Given the description of an element on the screen output the (x, y) to click on. 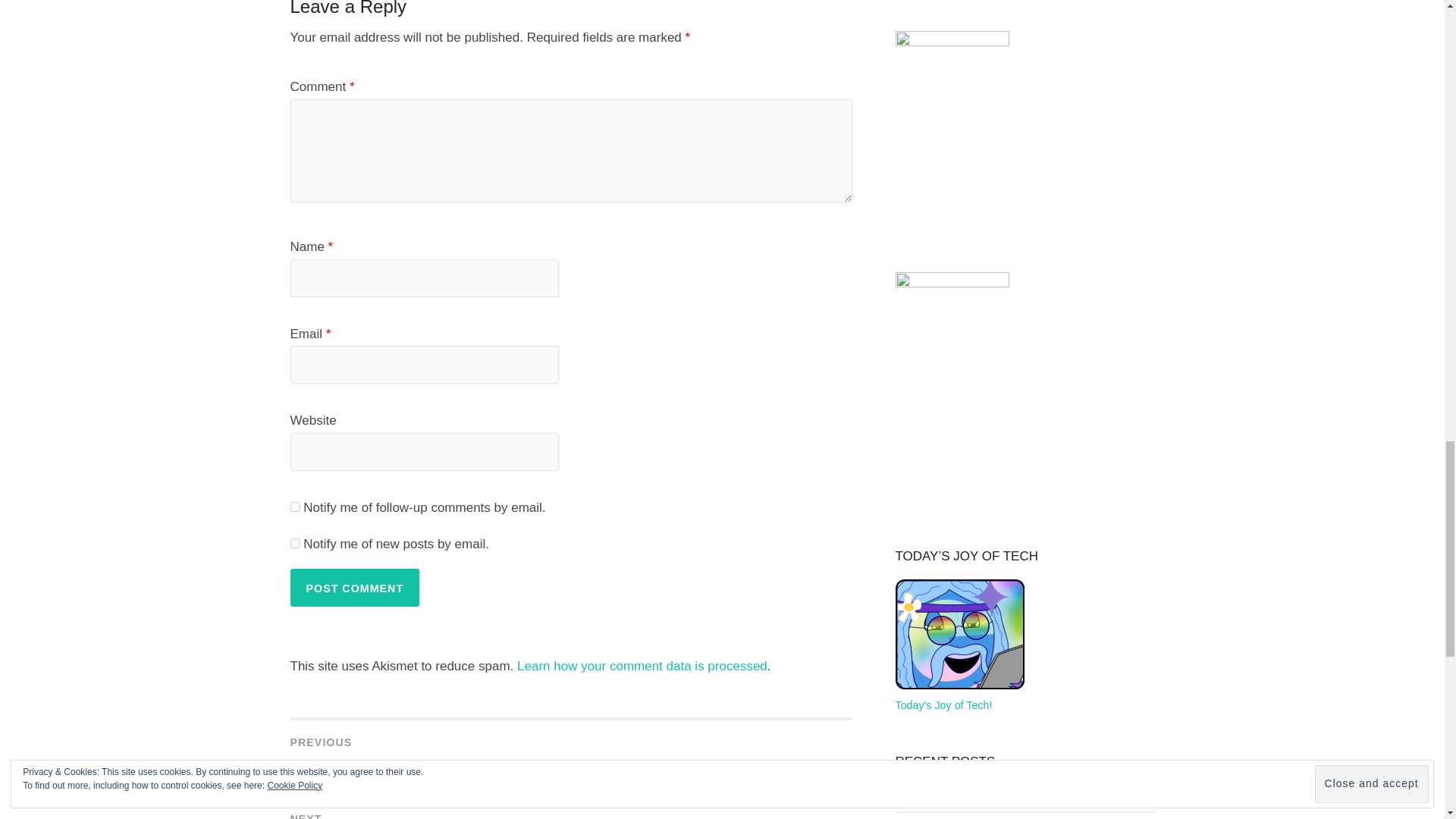
Post Comment (354, 587)
Post Comment (354, 587)
subscribe (294, 542)
Essential Apple Podcast 299: Pre WWDC (994, 793)
Today's Joy of Tech! (959, 695)
Learn how your comment data is processed (641, 666)
subscribe (294, 506)
